Given the description of an element on the screen output the (x, y) to click on. 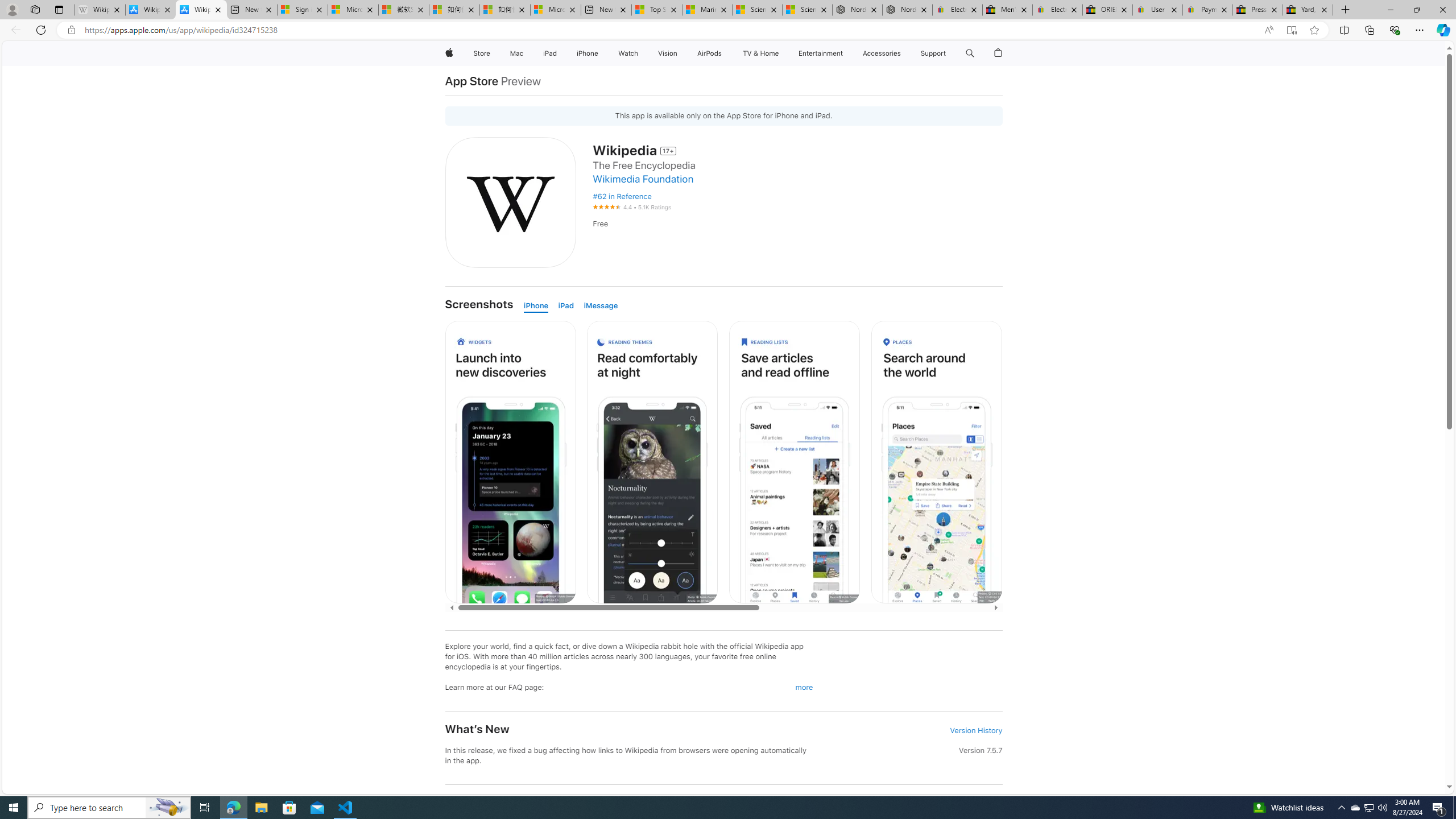
Accessories (881, 53)
iPhone menu (600, 53)
AutomationID: globalnav-bag (998, 53)
Accessories menu (903, 53)
Mac menu (524, 53)
Top Stories - MSN (656, 9)
iPhone (535, 305)
Apple (448, 53)
